Given the description of an element on the screen output the (x, y) to click on. 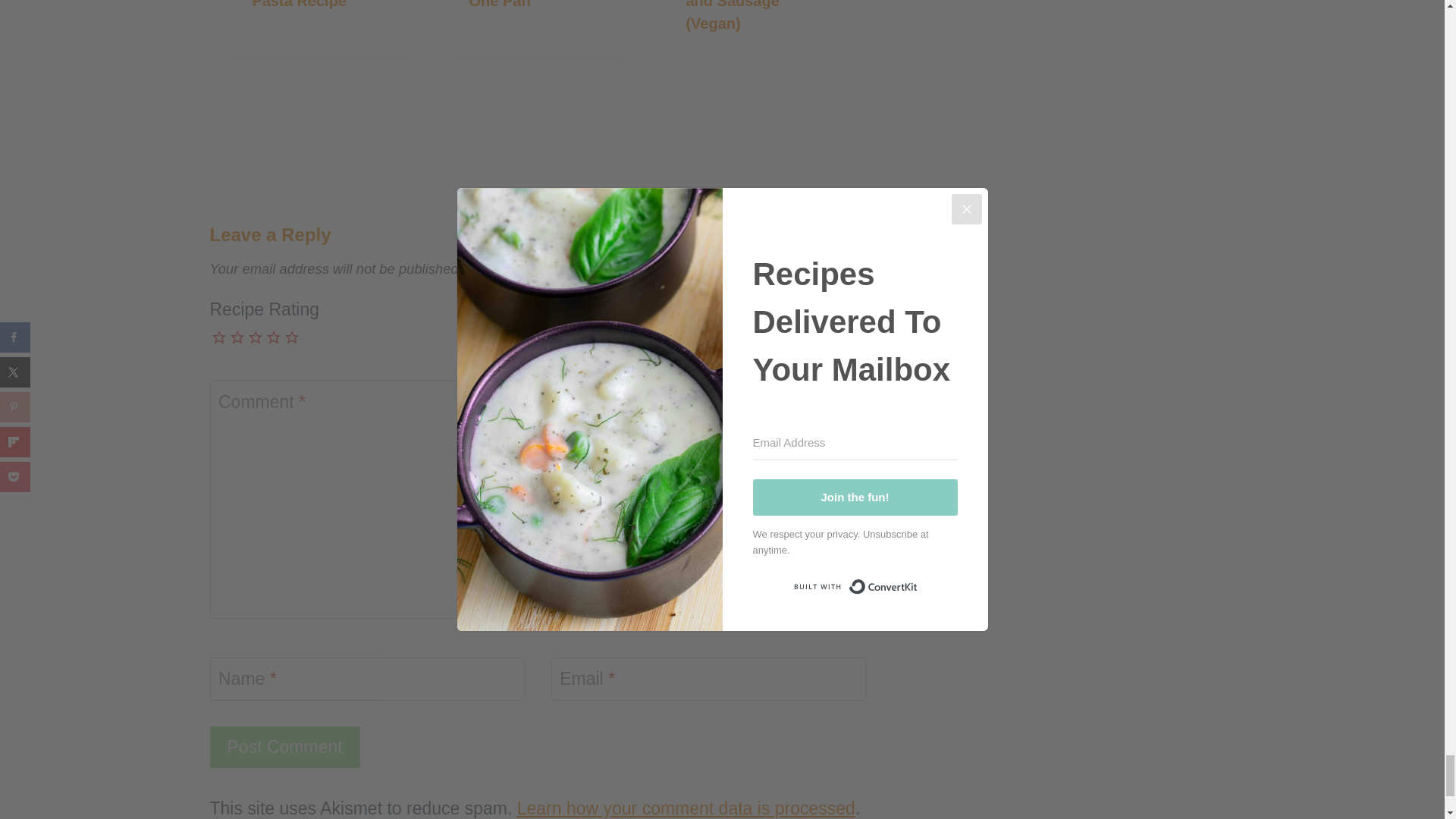
Post Comment (284, 747)
